Given the description of an element on the screen output the (x, y) to click on. 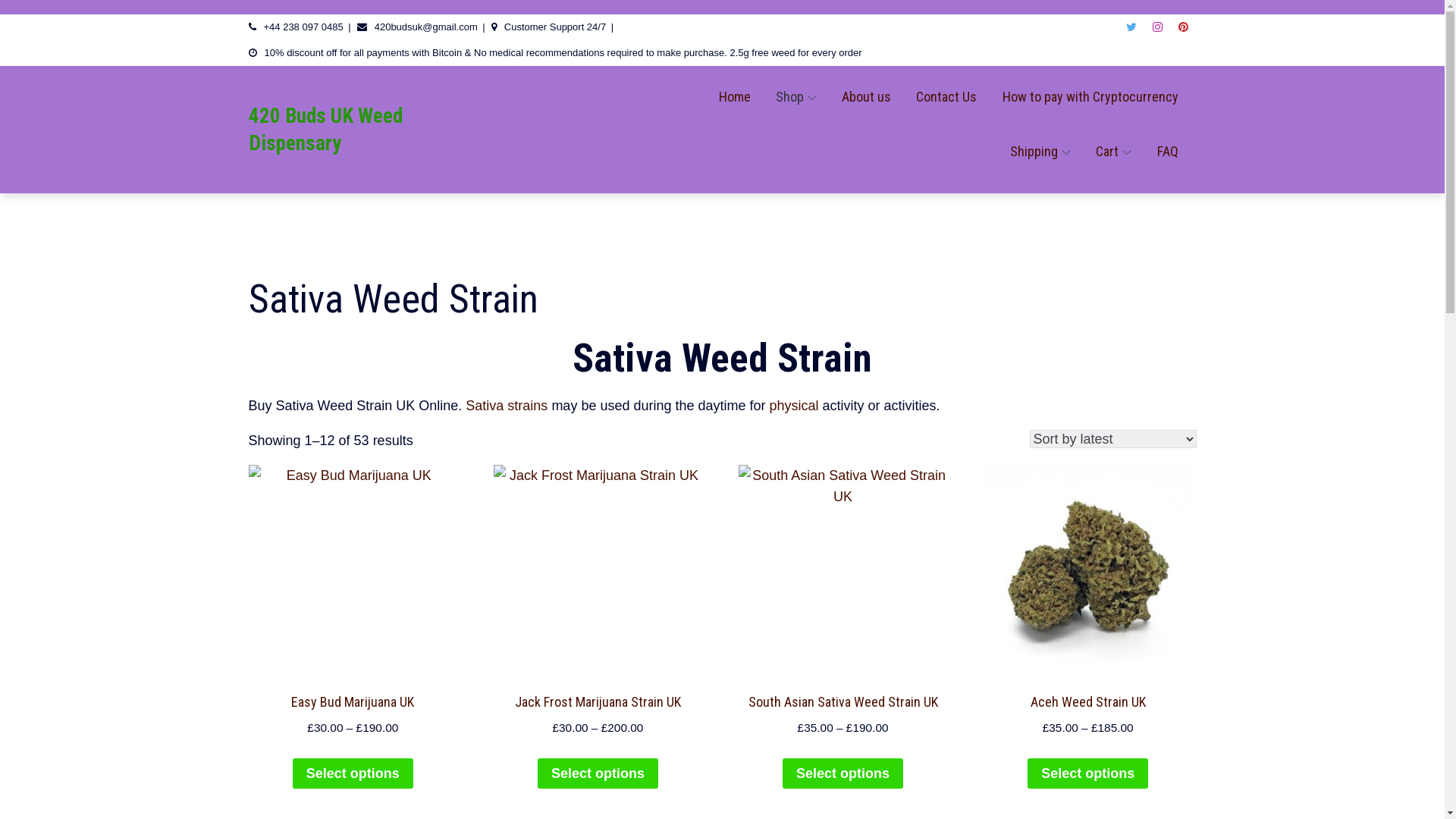
Shop Element type: text (795, 96)
Shipping Element type: text (1040, 151)
Select options Element type: text (597, 773)
420 Buds UK Weed Dispensary Element type: text (325, 128)
physical Element type: text (794, 405)
FAQ Element type: text (1167, 151)
Select options Element type: text (352, 773)
Select options Element type: text (1087, 773)
Select options Element type: text (842, 773)
Cart Element type: text (1113, 151)
Home Element type: text (734, 96)
Sativa strains Element type: text (506, 405)
How to pay with Cryptocurrency Element type: text (1090, 96)
Contact Us Element type: text (946, 96)
About us Element type: text (866, 96)
